Given the description of an element on the screen output the (x, y) to click on. 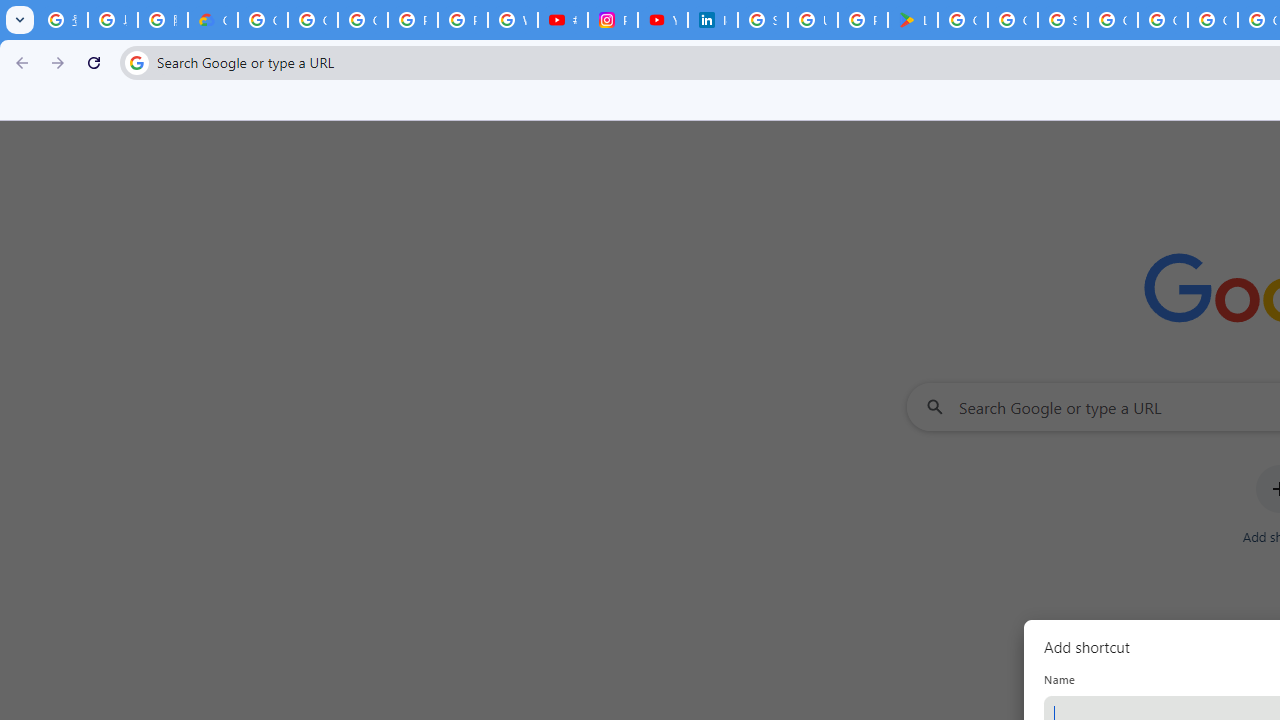
#nbabasketballhighlights - YouTube (562, 20)
Last Shelter: Survival - Apps on Google Play (913, 20)
YouTube Culture & Trends - On The Rise: Handcam Videos (662, 20)
